Given the description of an element on the screen output the (x, y) to click on. 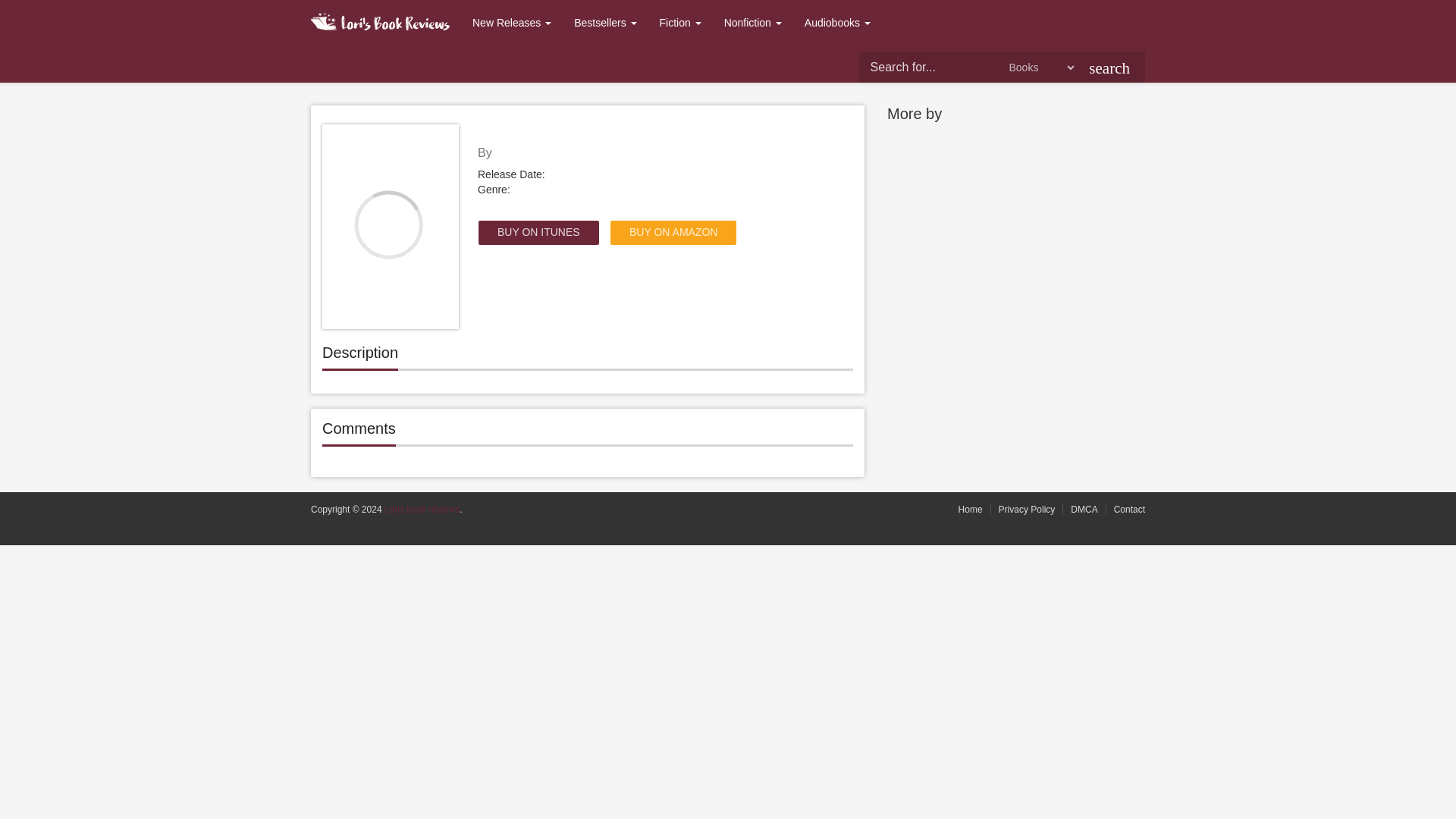
Audiobooks (837, 22)
Bestsellers (604, 22)
Nonfiction (753, 22)
Fiction (680, 22)
New Releases (511, 22)
